Given the description of an element on the screen output the (x, y) to click on. 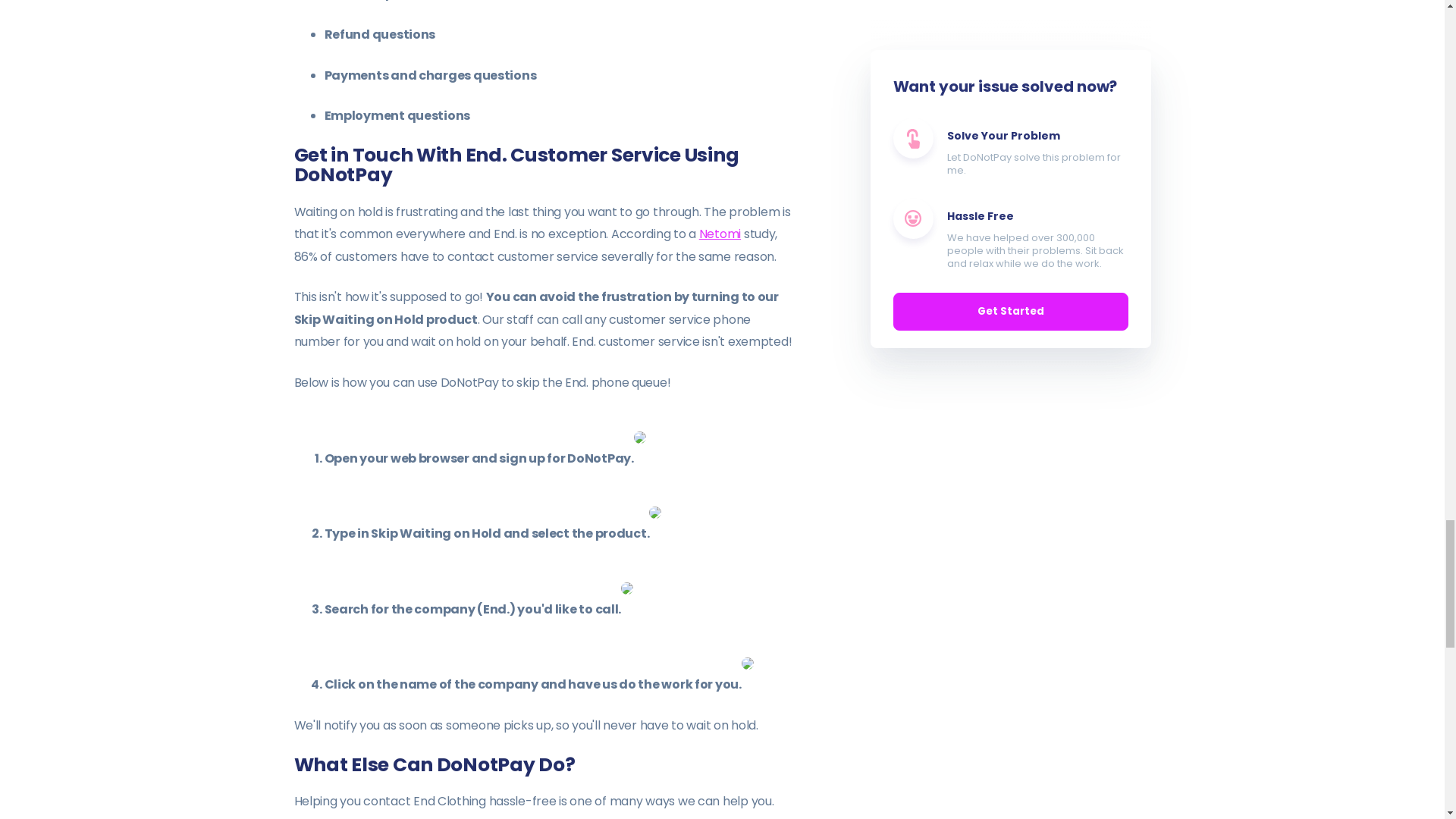
Netomi (719, 233)
